Given the description of an element on the screen output the (x, y) to click on. 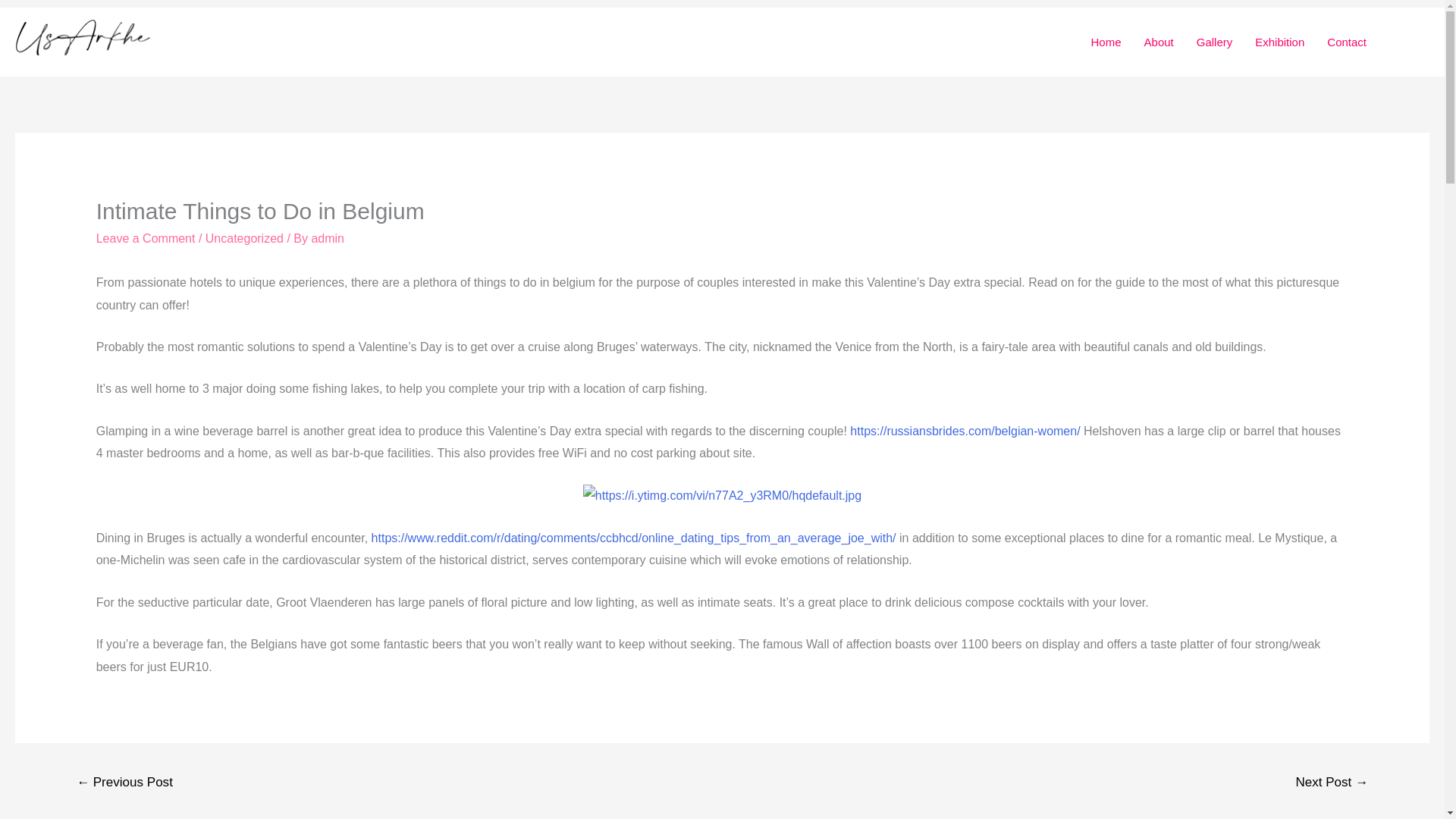
About (1158, 41)
Home (1106, 41)
Contact (1346, 41)
Exhibition (1279, 41)
admin (327, 237)
Uncategorized (244, 237)
Leave a Comment (145, 237)
Gallery (1214, 41)
View all posts by admin (327, 237)
